Given the description of an element on the screen output the (x, y) to click on. 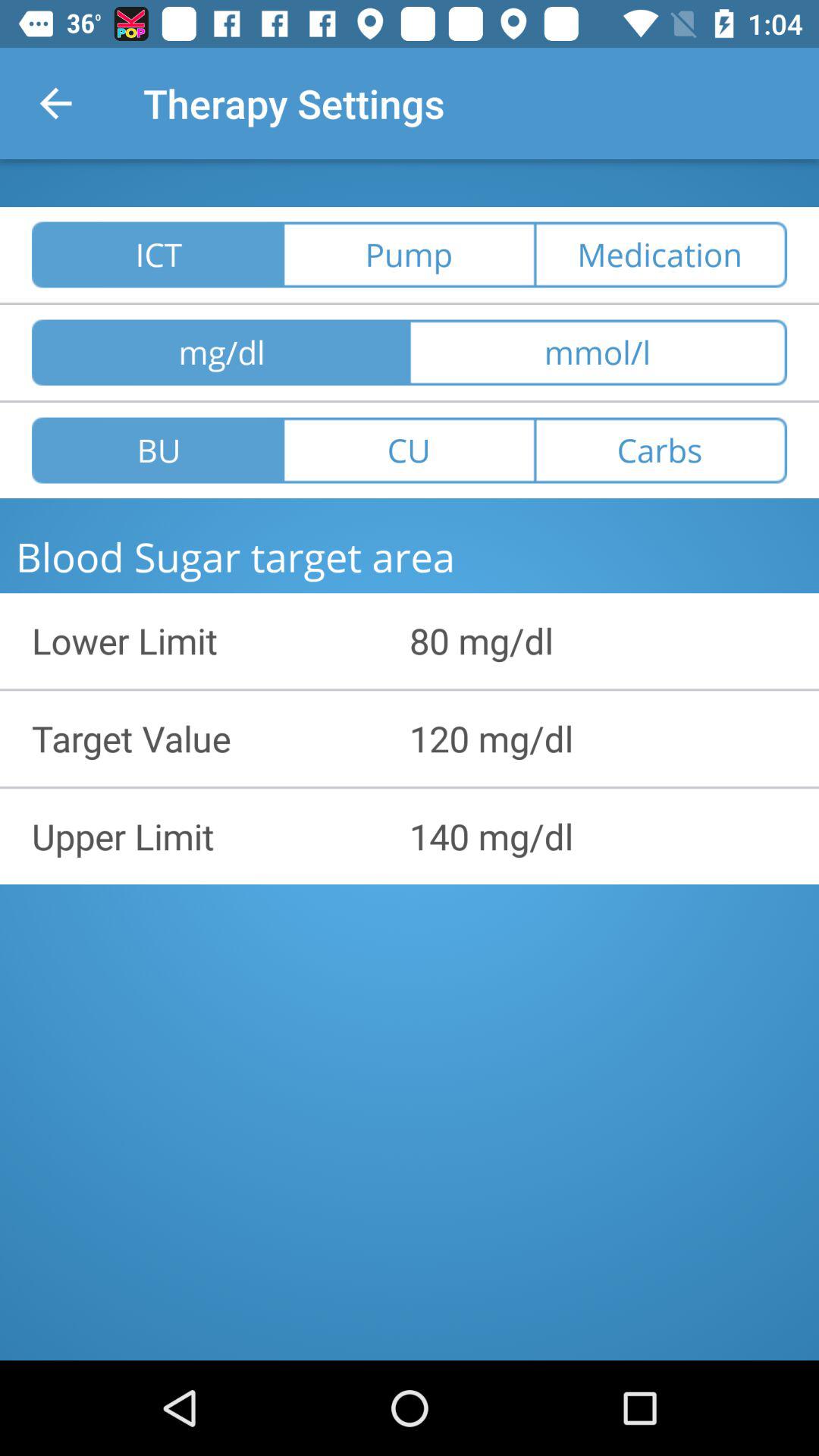
turn on the icon next to the ict icon (409, 254)
